Given the description of an element on the screen output the (x, y) to click on. 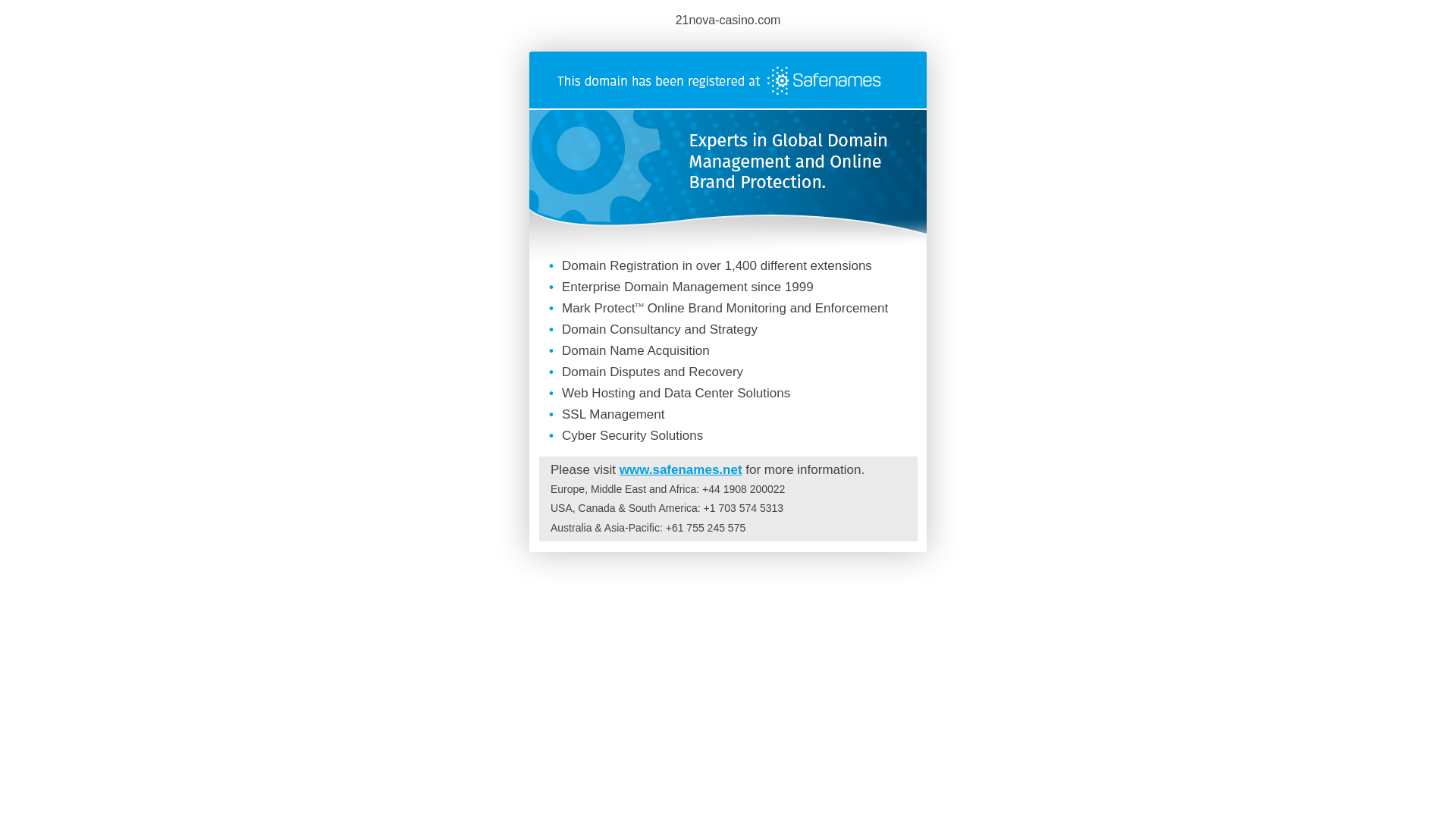
www.safenames.net Element type: text (680, 469)
